Given the description of an element on the screen output the (x, y) to click on. 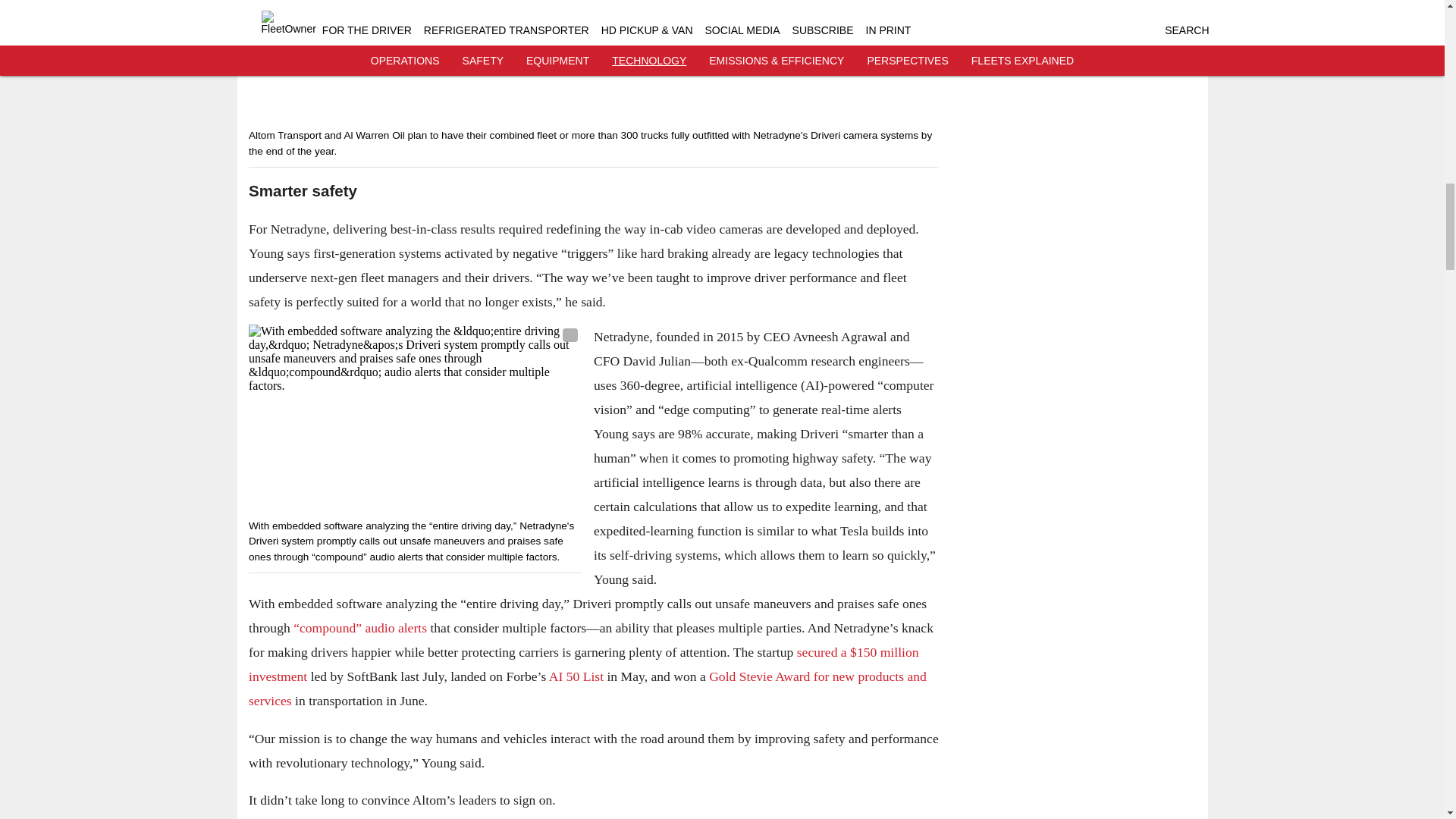
AI 50 List (575, 676)
Gold Stevie Award for new products and services (587, 688)
